Given the description of an element on the screen output the (x, y) to click on. 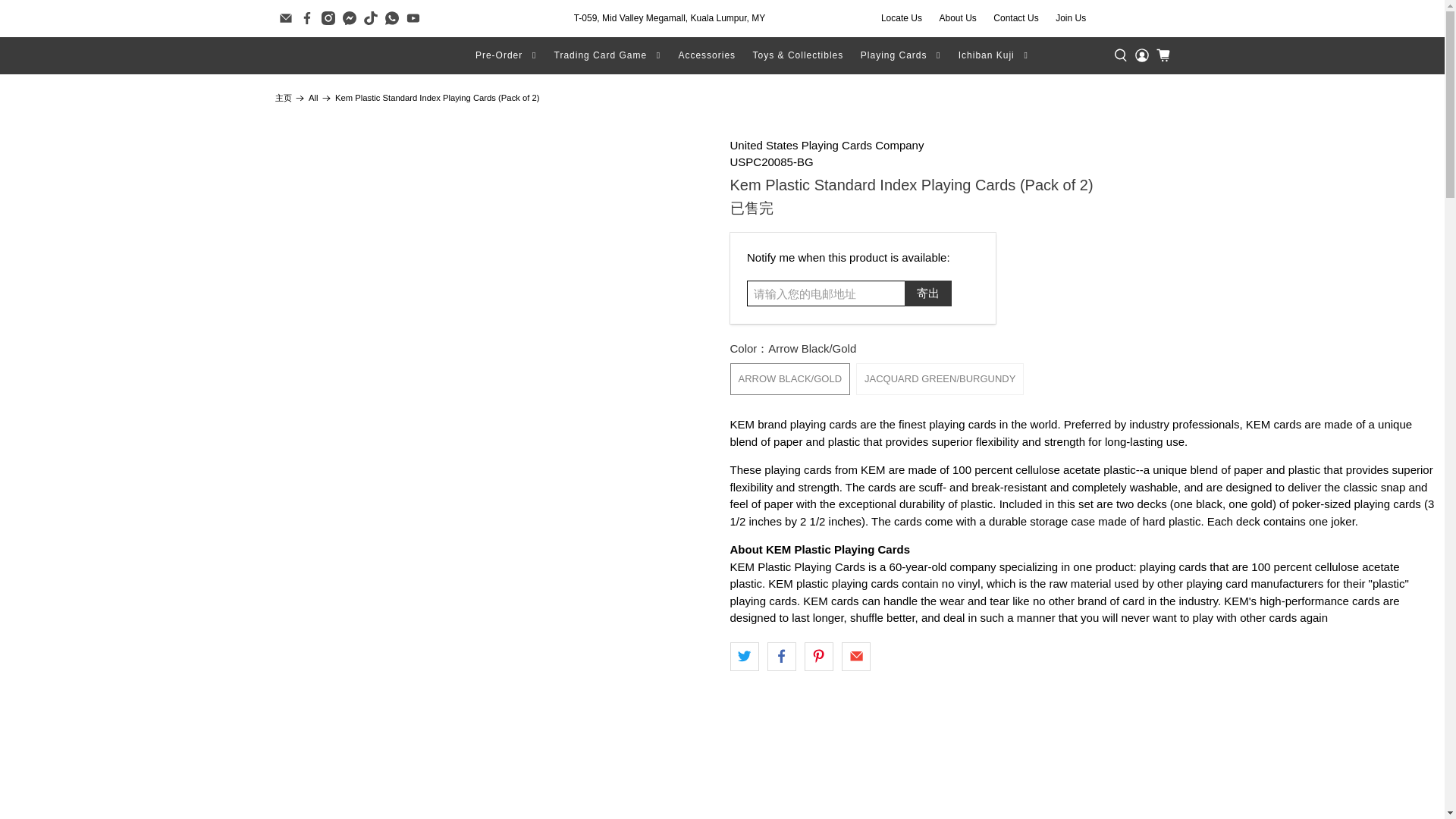
United States Playing Cards Company (826, 144)
Locate Us (901, 18)
Accessories (706, 54)
Pre-Order (506, 54)
Join Us (1070, 18)
Playing Cards (900, 54)
Trading Card Game (606, 54)
Ichiban Kuji (992, 54)
Contact Us (1015, 18)
About Us (957, 18)
